Given the description of an element on the screen output the (x, y) to click on. 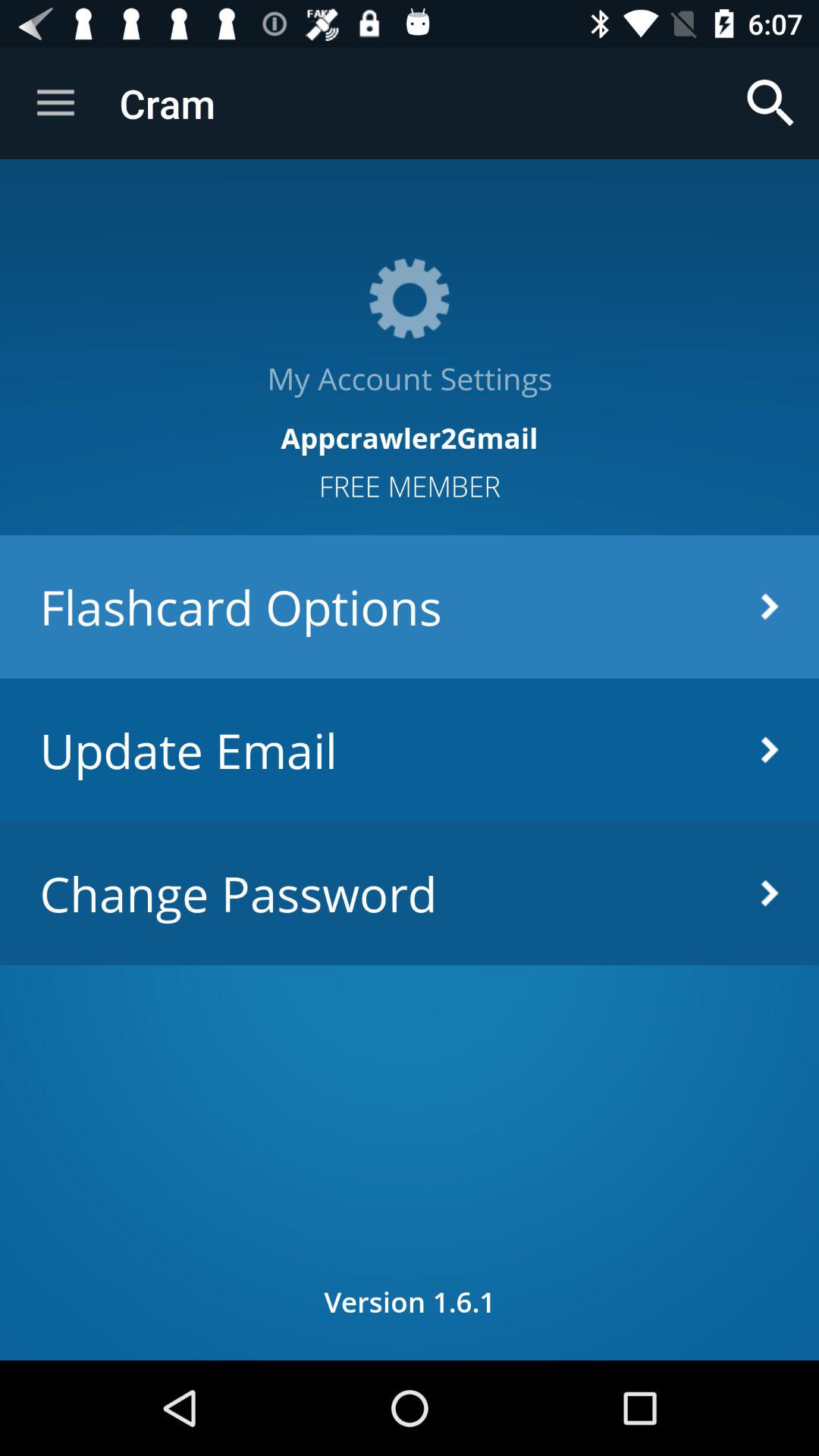
open icon to the left of the cram item (55, 103)
